Given the description of an element on the screen output the (x, y) to click on. 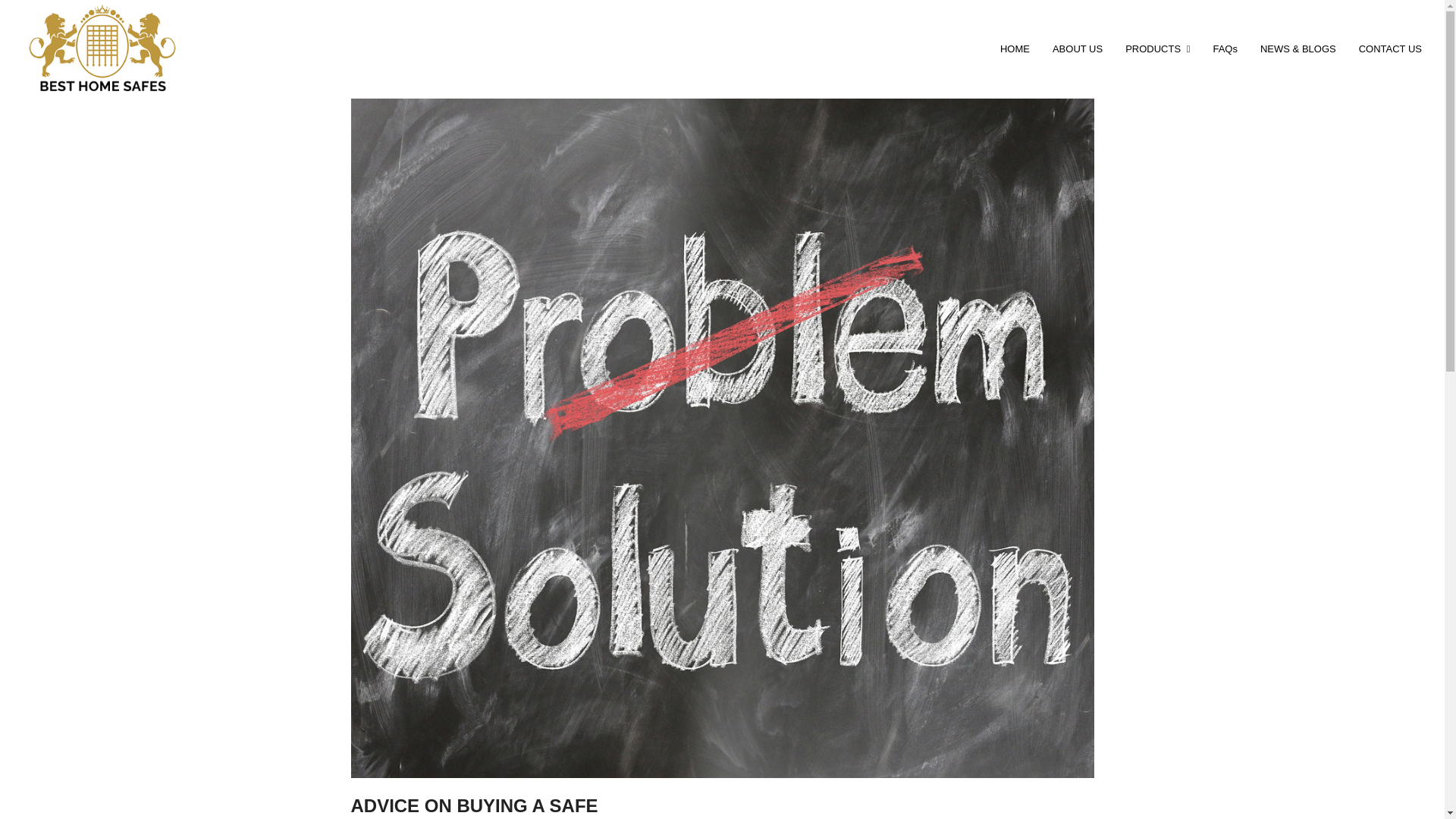
CONTACT US (1390, 48)
ABOUT US (1077, 48)
FAQs (1225, 48)
PRODUCTS (1157, 48)
HOME (1014, 48)
